Given the description of an element on the screen output the (x, y) to click on. 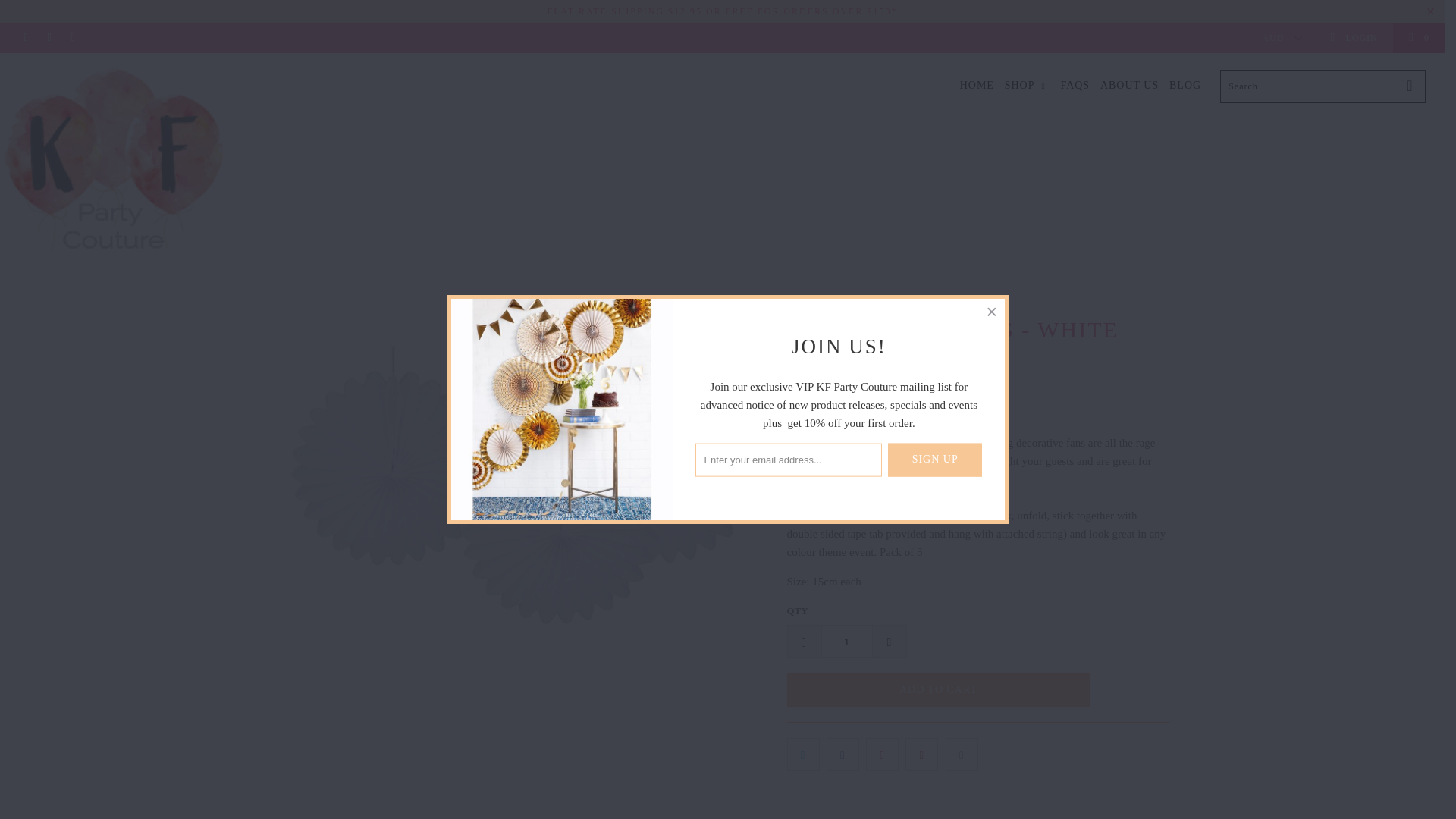
My Account  (1352, 37)
Share this on Pinterest (882, 754)
Email this to a friend (961, 754)
KF Party Couture on Facebook (25, 37)
KF Party Couture on Pinterest (48, 37)
KF Party Couture (115, 169)
Share this on Twitter (803, 754)
Share this on Facebook (843, 754)
Sign Up (934, 459)
1 (846, 641)
KF Party Couture on Instagram (71, 37)
